Given the description of an element on the screen output the (x, y) to click on. 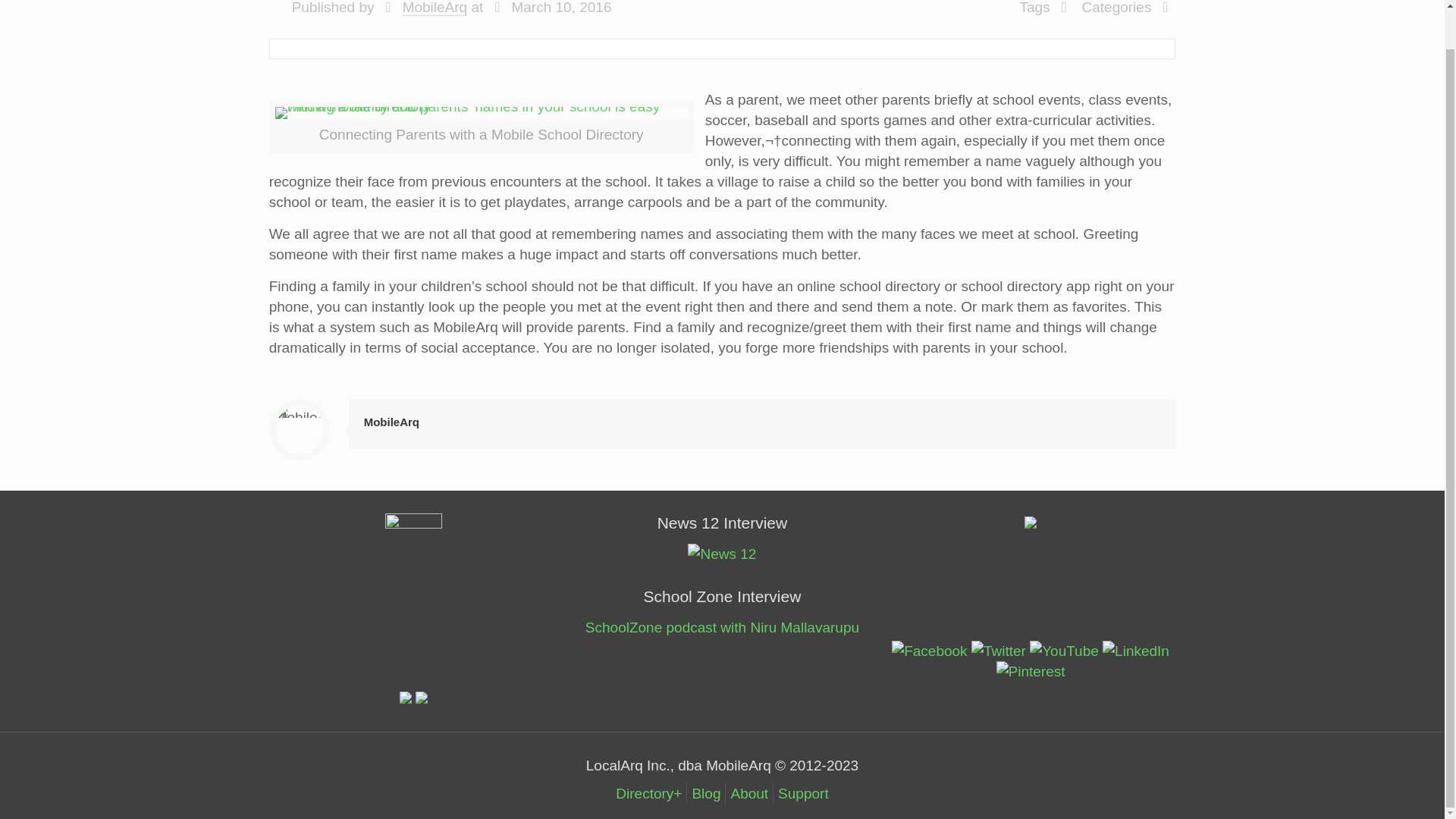
News 12 (721, 553)
MobileArq (435, 7)
MobileArq (391, 421)
Pinterest (1030, 670)
LinkedIn (1135, 650)
SchoolZone podcast with Niru Mallavarupu (722, 627)
Twitter (998, 650)
YouTube (1064, 650)
Facebook (928, 650)
